Given the description of an element on the screen output the (x, y) to click on. 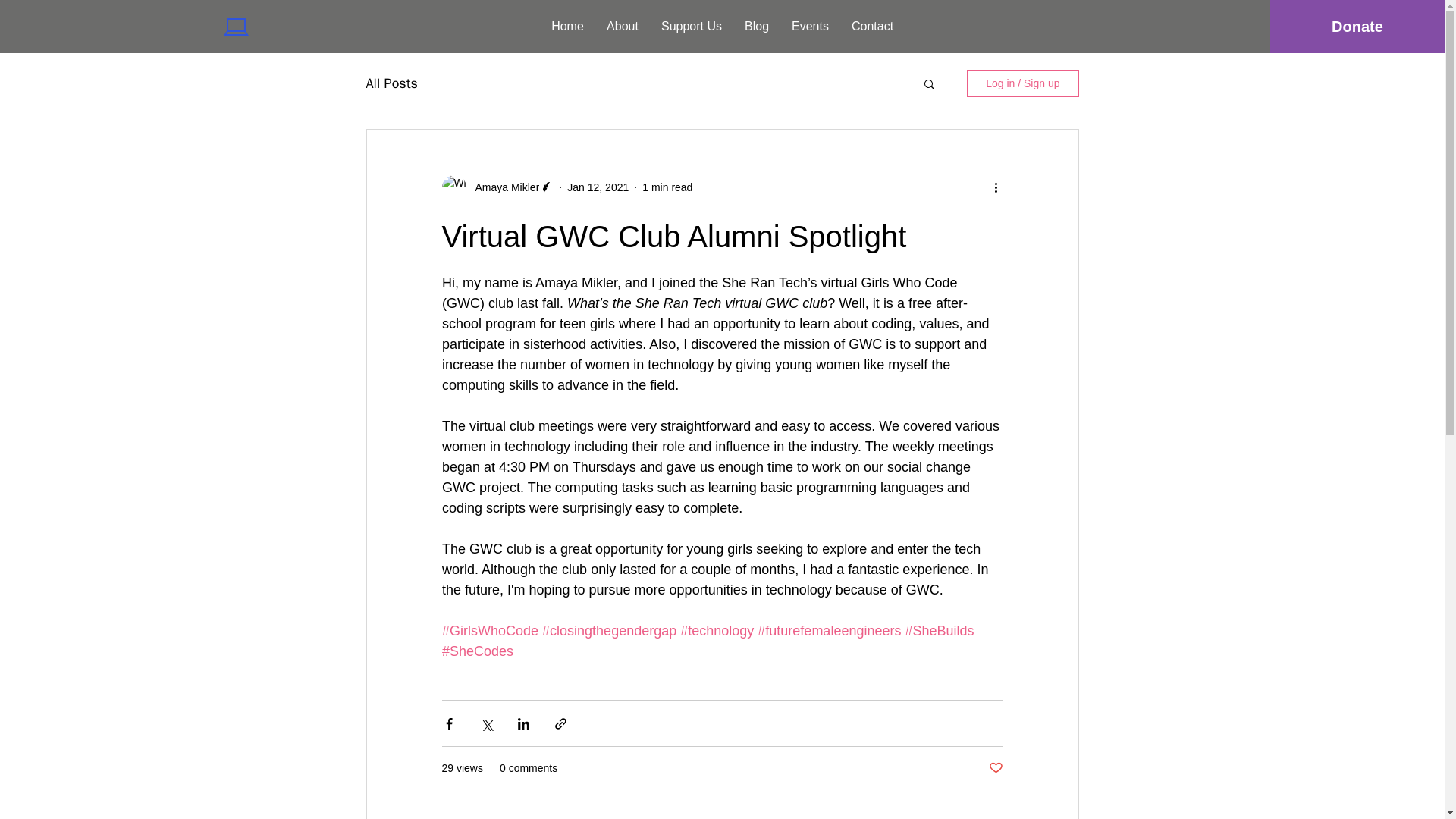
Blog (756, 26)
SHE RAN TECH (307, 26)
Events (810, 26)
1 min read (667, 186)
Home (567, 26)
Contact (872, 26)
Post not marked as liked (995, 768)
About (622, 26)
All Posts (390, 83)
Amaya Mikler (501, 186)
